Given the description of an element on the screen output the (x, y) to click on. 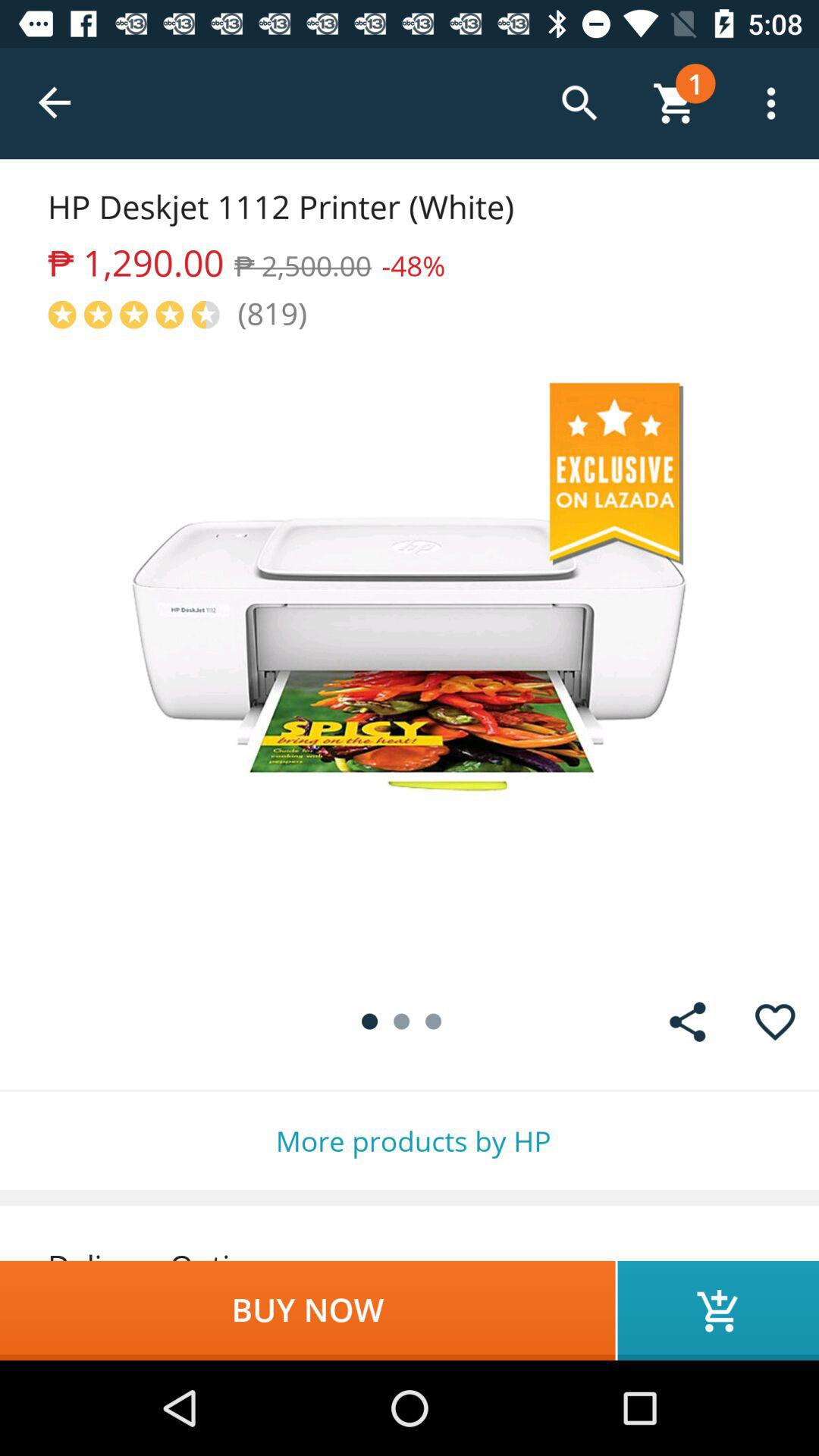
go back (55, 103)
